Given the description of an element on the screen output the (x, y) to click on. 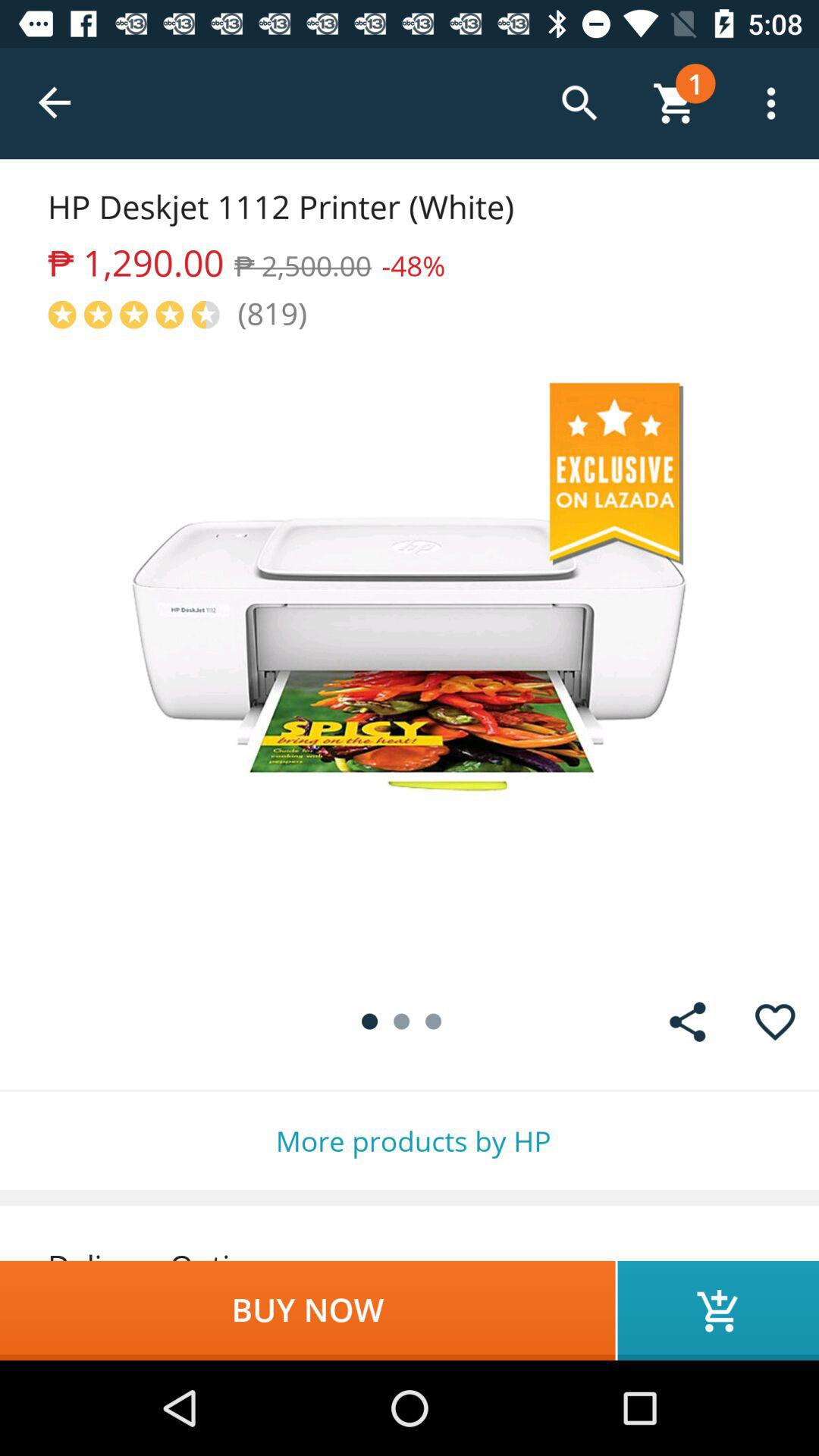
go back (55, 103)
